Given the description of an element on the screen output the (x, y) to click on. 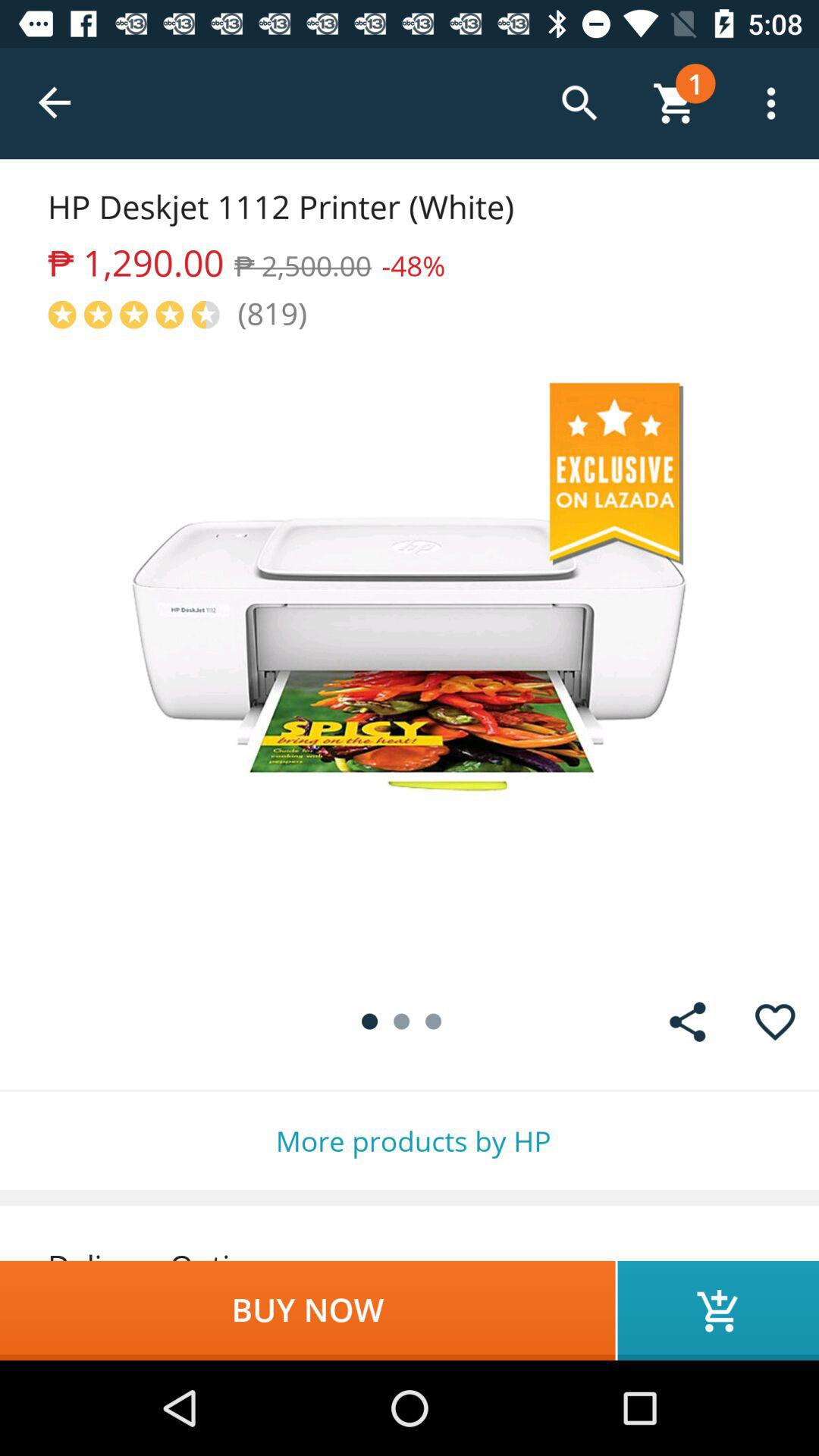
go back (55, 103)
